Given the description of an element on the screen output the (x, y) to click on. 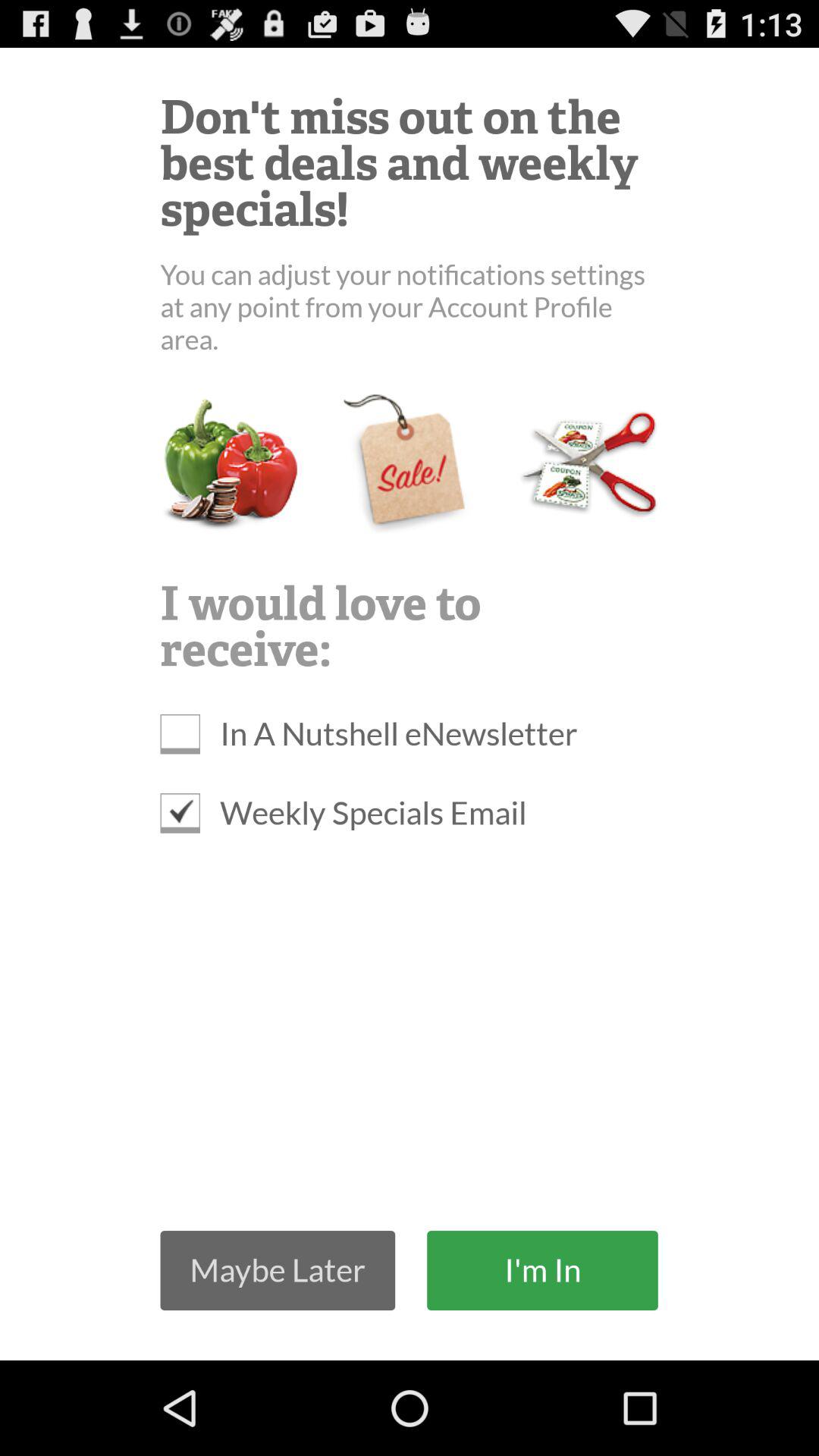
open the maybe later item (277, 1270)
